Given the description of an element on the screen output the (x, y) to click on. 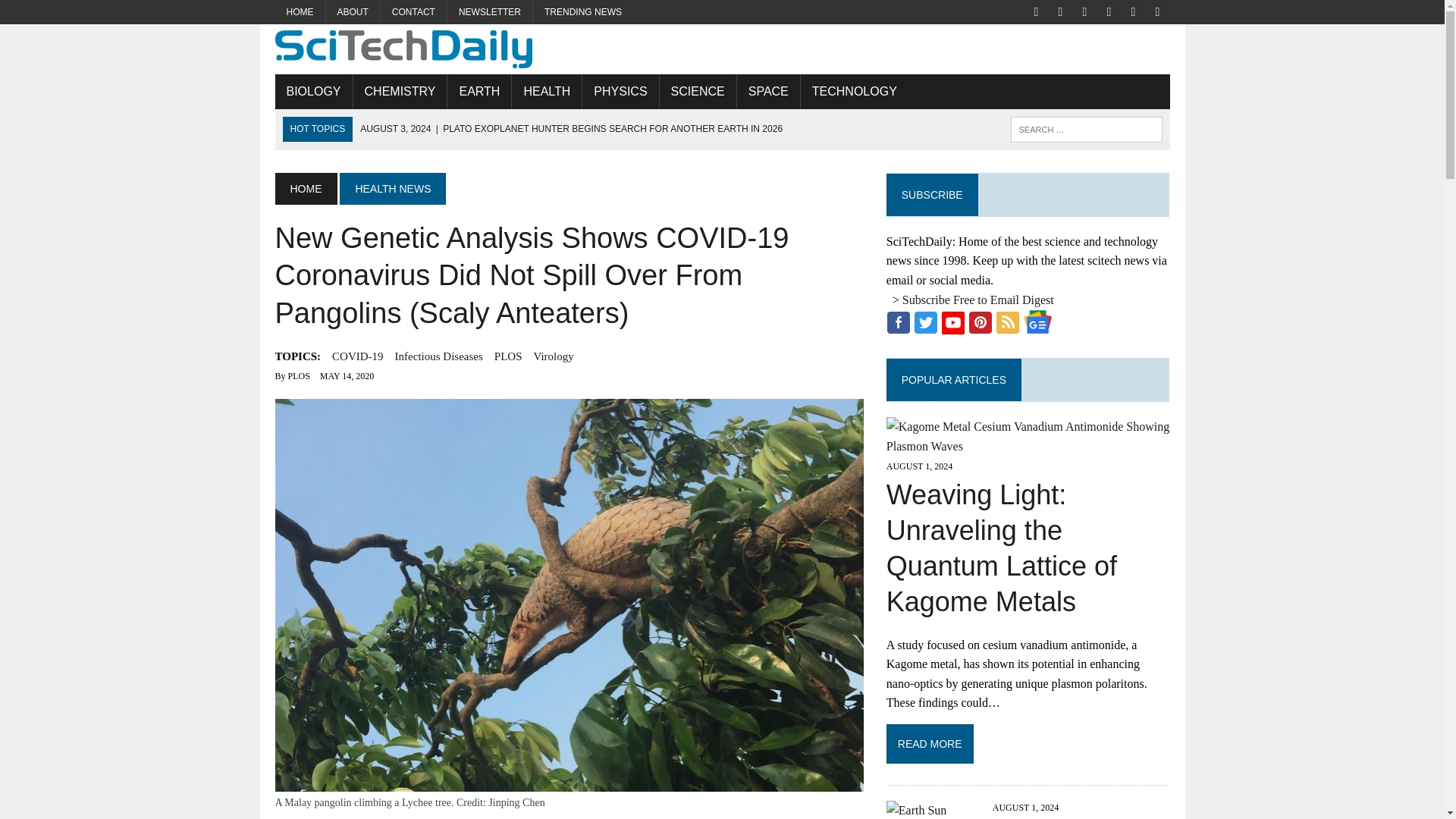
Virology (552, 356)
Contact SciTechDaily.com (413, 12)
ABOUT (353, 12)
PLOS (508, 356)
SPACE (767, 91)
PHYSICS (620, 91)
TRENDING NEWS (582, 12)
CONTACT (413, 12)
SCIENCE (697, 91)
EARTH (478, 91)
HOME (299, 12)
HEALTH NEWS (392, 188)
SciTechDaily Newsletter (489, 12)
BIOLOGY (313, 91)
HOME (305, 188)
